Given the description of an element on the screen output the (x, y) to click on. 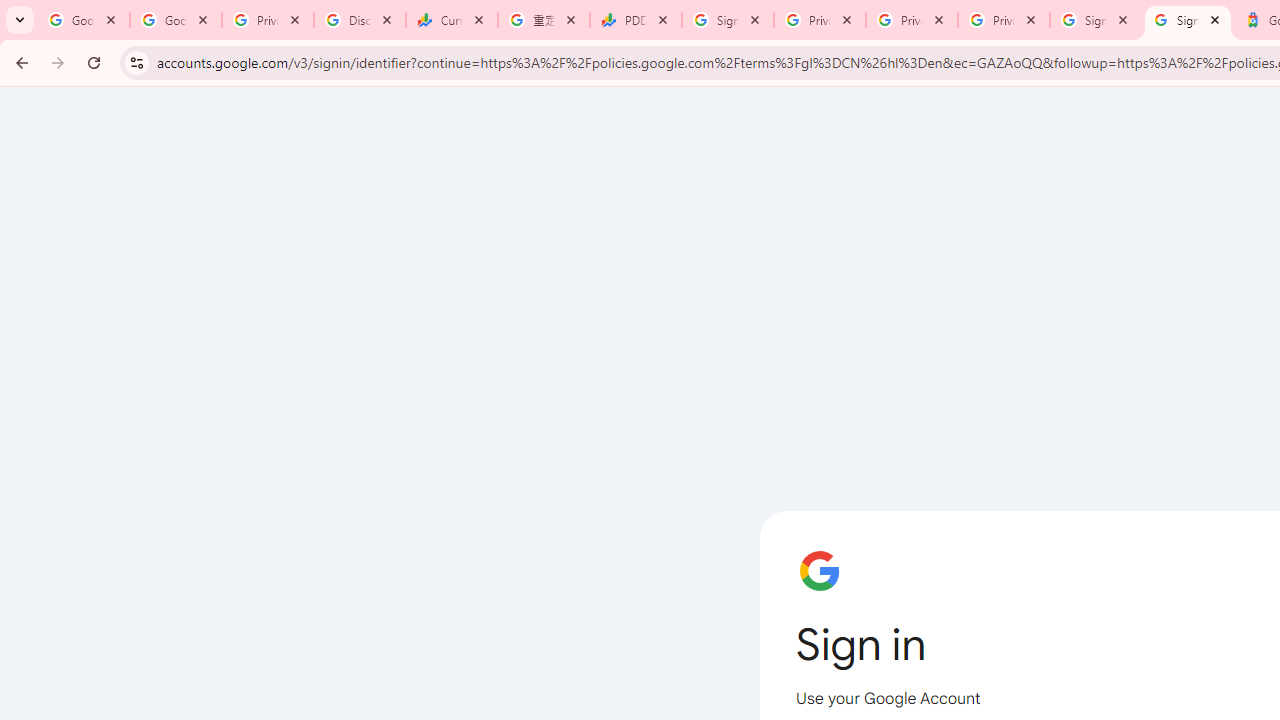
Privacy Checkup (1003, 20)
Sign in - Google Accounts (1095, 20)
Sign in - Google Accounts (728, 20)
